Given the description of an element on the screen output the (x, y) to click on. 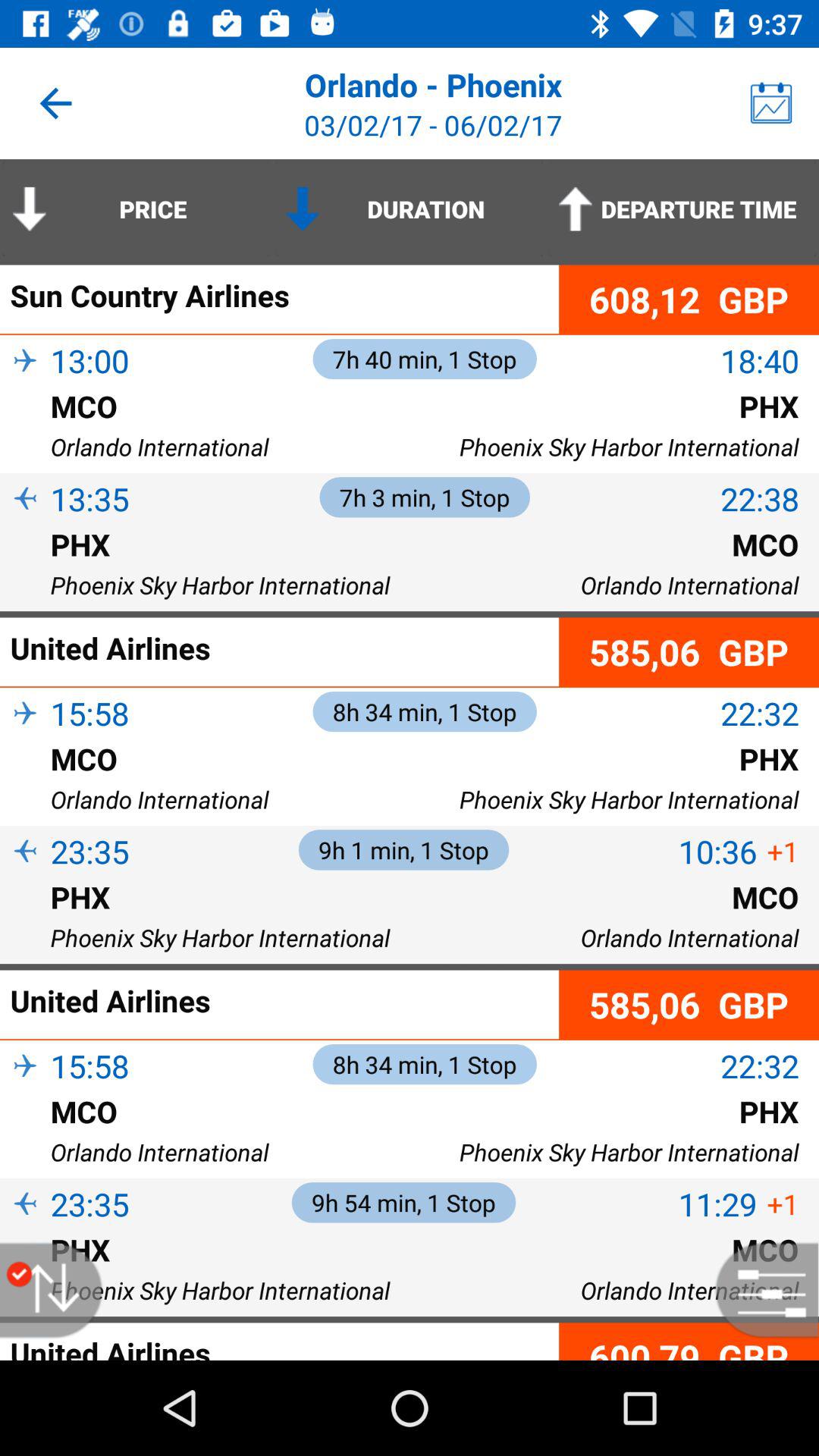
select icon above price icon (55, 103)
